Given the description of an element on the screen output the (x, y) to click on. 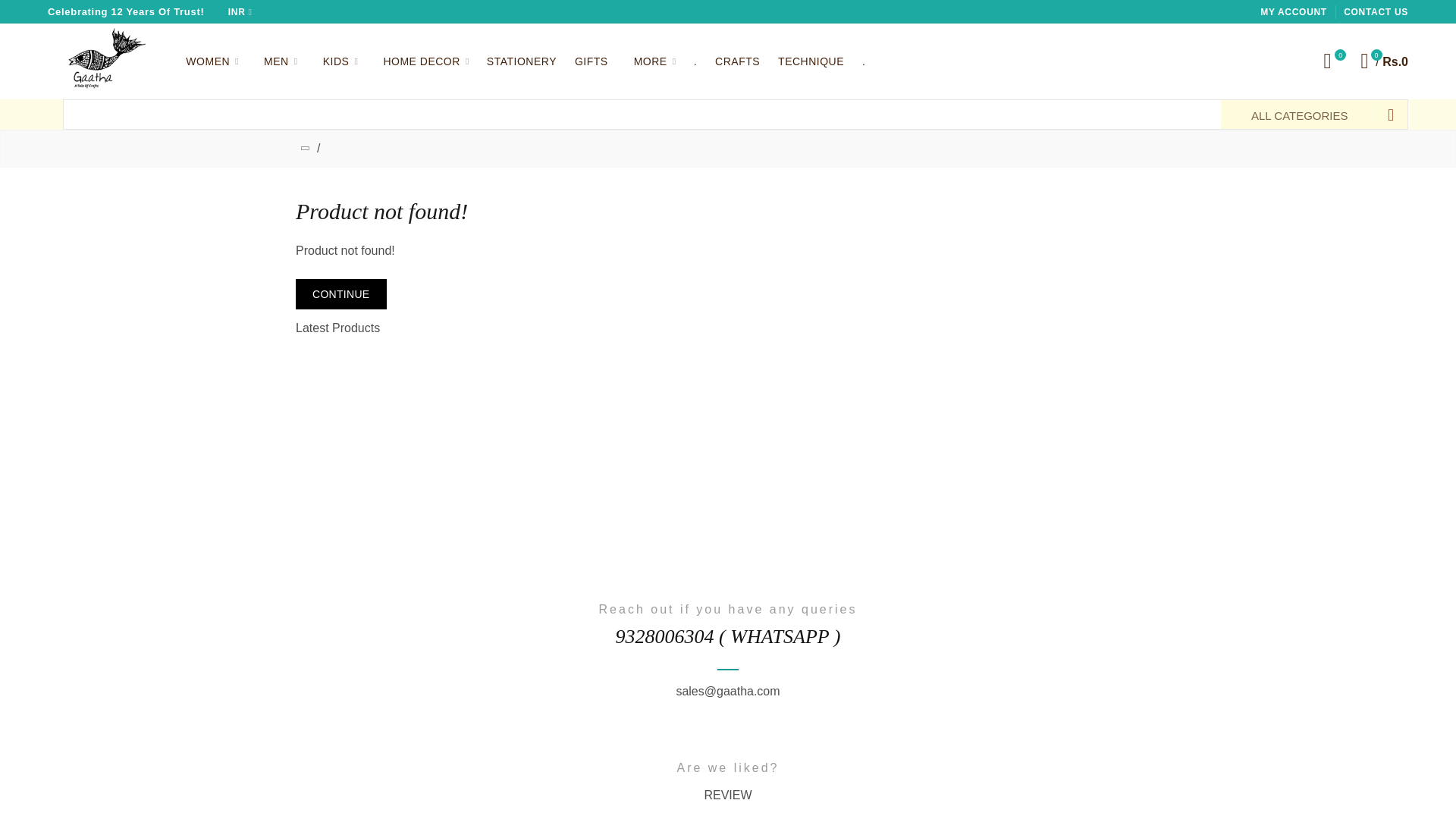
Go Back (304, 148)
Gaatha (98, 61)
